Given the description of an element on the screen output the (x, y) to click on. 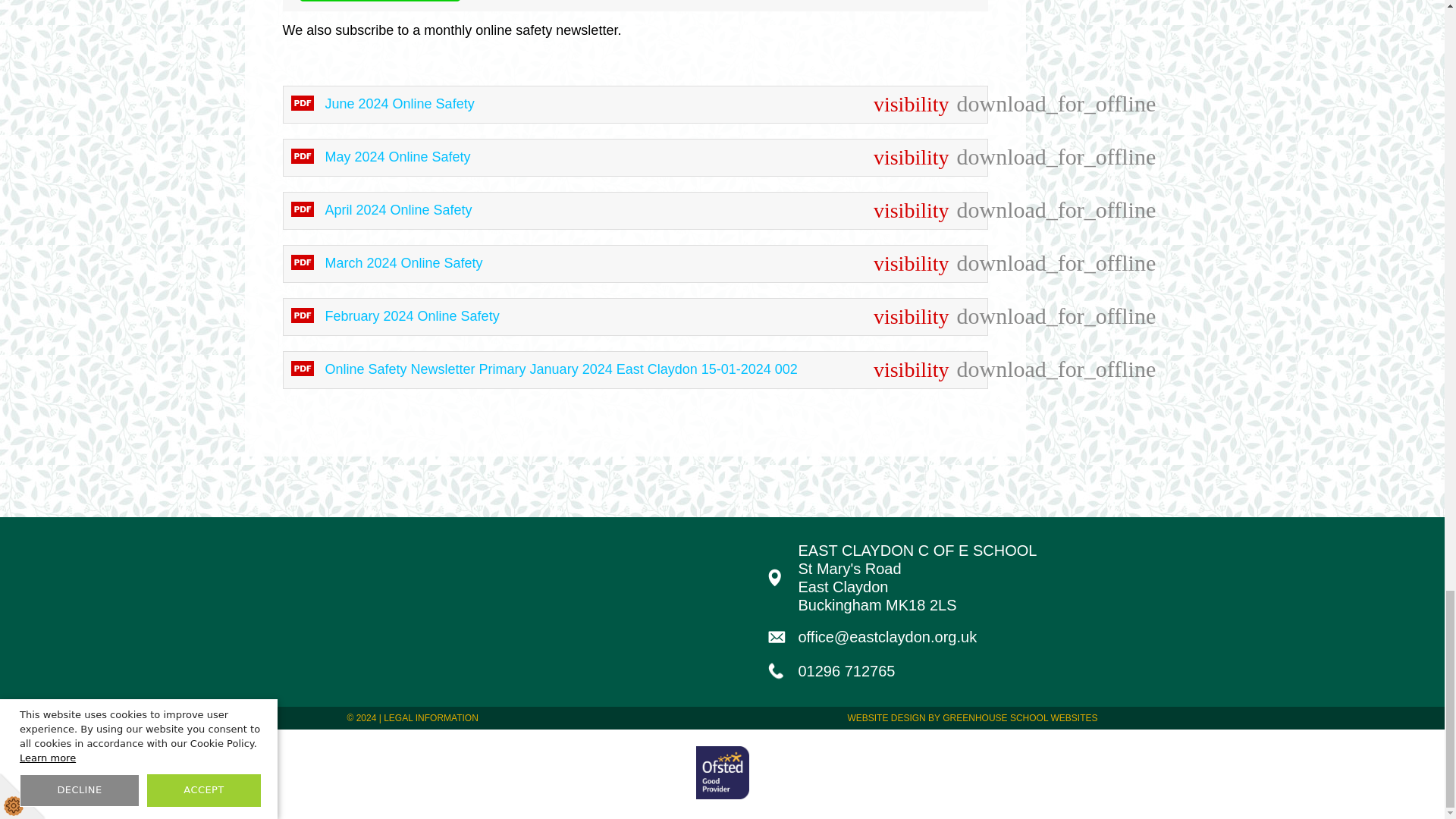
Download this file (967, 210)
Download this file (967, 262)
Download this file (967, 156)
View this file (636, 316)
Download this file (967, 315)
Download this file (967, 103)
View this file (636, 104)
View this file (636, 263)
View this file (636, 157)
Download this file (967, 368)
View this file (636, 369)
View this file (636, 210)
